Given the description of an element on the screen output the (x, y) to click on. 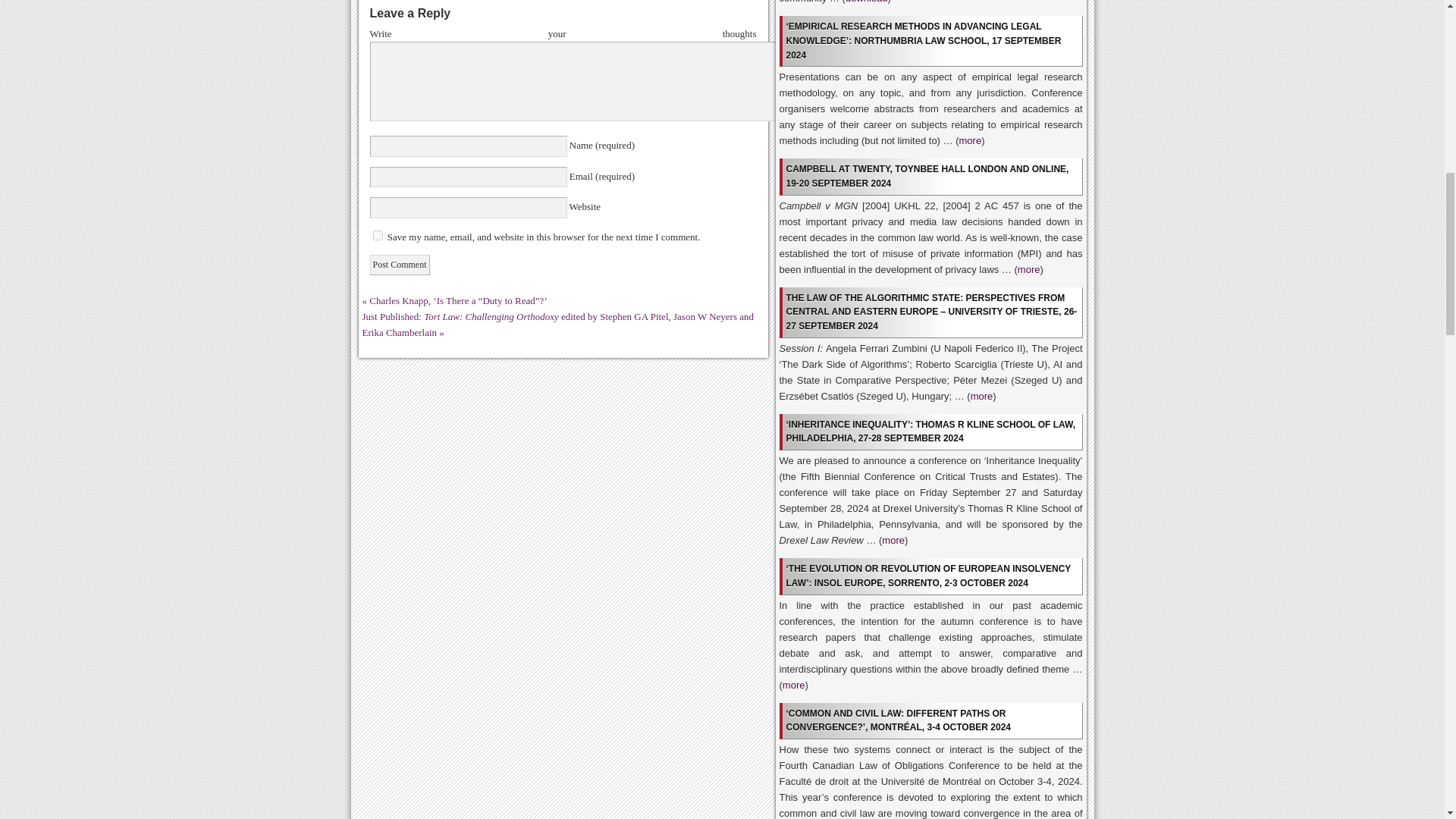
yes (377, 235)
Post Comment (399, 264)
